Given the description of an element on the screen output the (x, y) to click on. 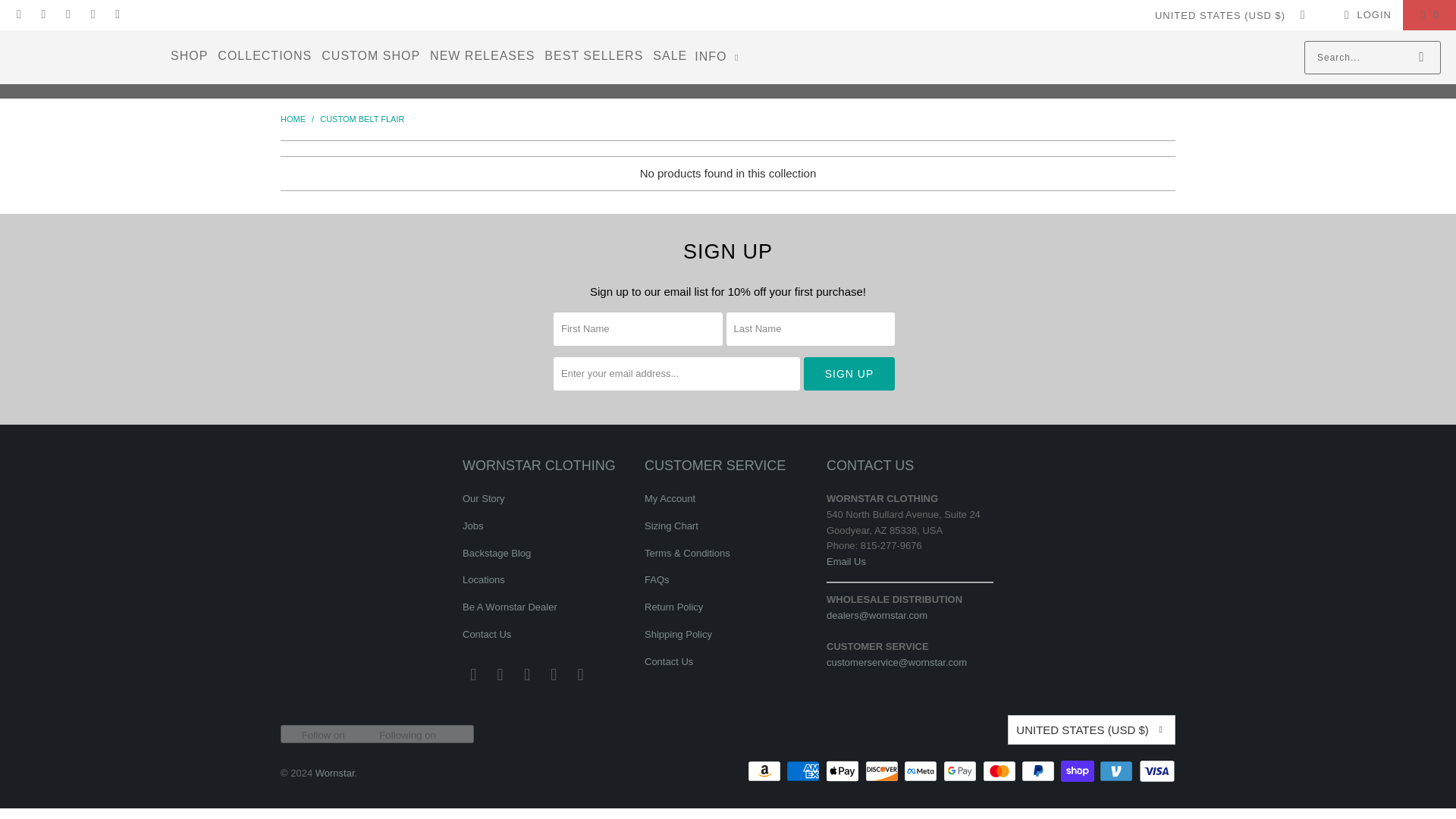
Mastercard (1000, 771)
Sign Up (849, 373)
Email Wornstar (473, 674)
PayPal (1040, 771)
Shop Pay (1079, 771)
Apple Pay (843, 771)
Visa (1156, 771)
Email Wornstar (17, 14)
Amazon (766, 771)
Wornstar on Instagram (67, 14)
Wornstar on YouTube (580, 674)
My Account  (1365, 14)
Wornstar on Instagram (527, 674)
Google Pay (961, 771)
Wornstar on Facebook (500, 674)
